Given the description of an element on the screen output the (x, y) to click on. 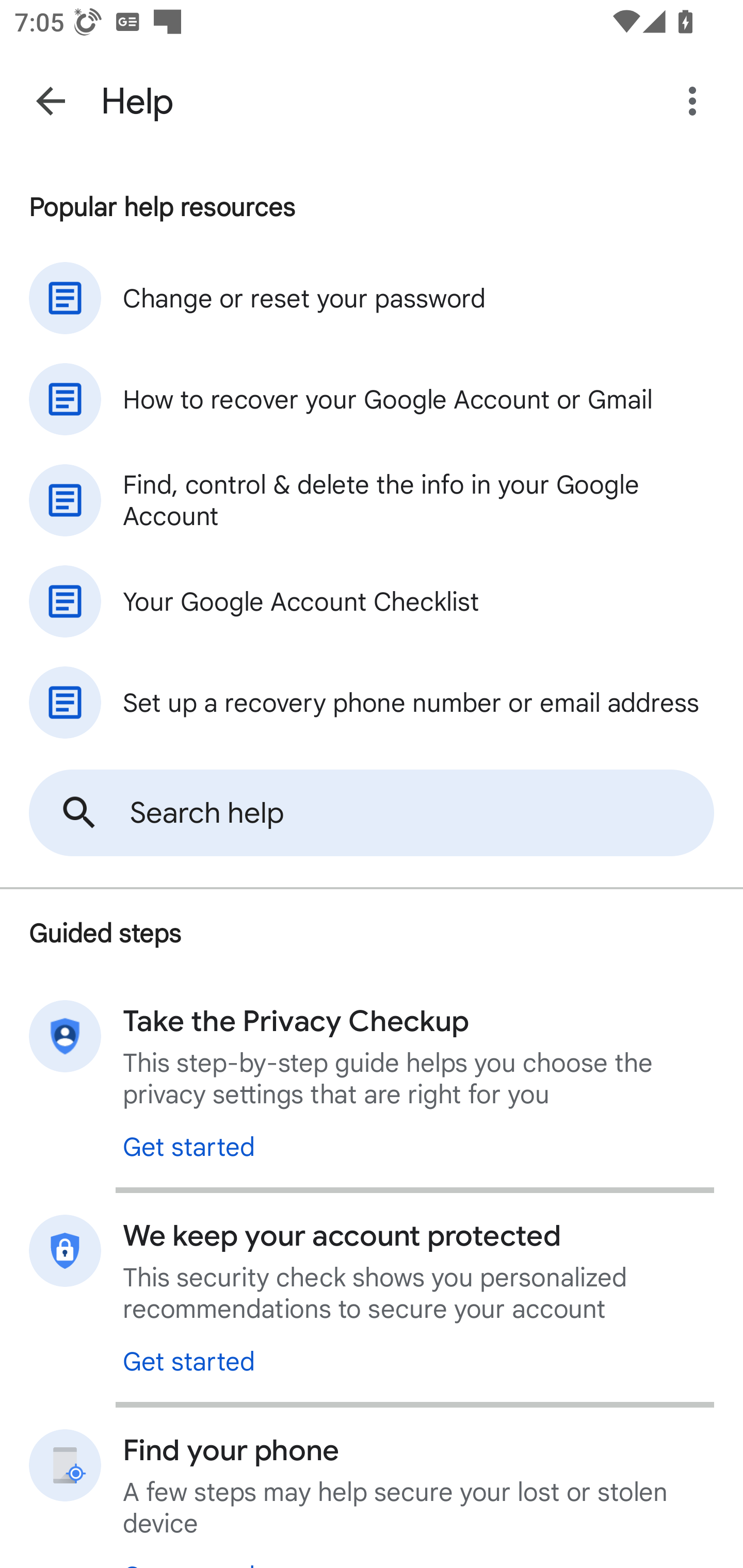
Navigate up (50, 101)
More options (696, 101)
Change or reset your password (371, 297)
How to recover your Google Account or Gmail (371, 399)
Your Google Account Checklist (371, 601)
Set up a recovery phone number or email address (371, 702)
Search help (371, 812)
